Given the description of an element on the screen output the (x, y) to click on. 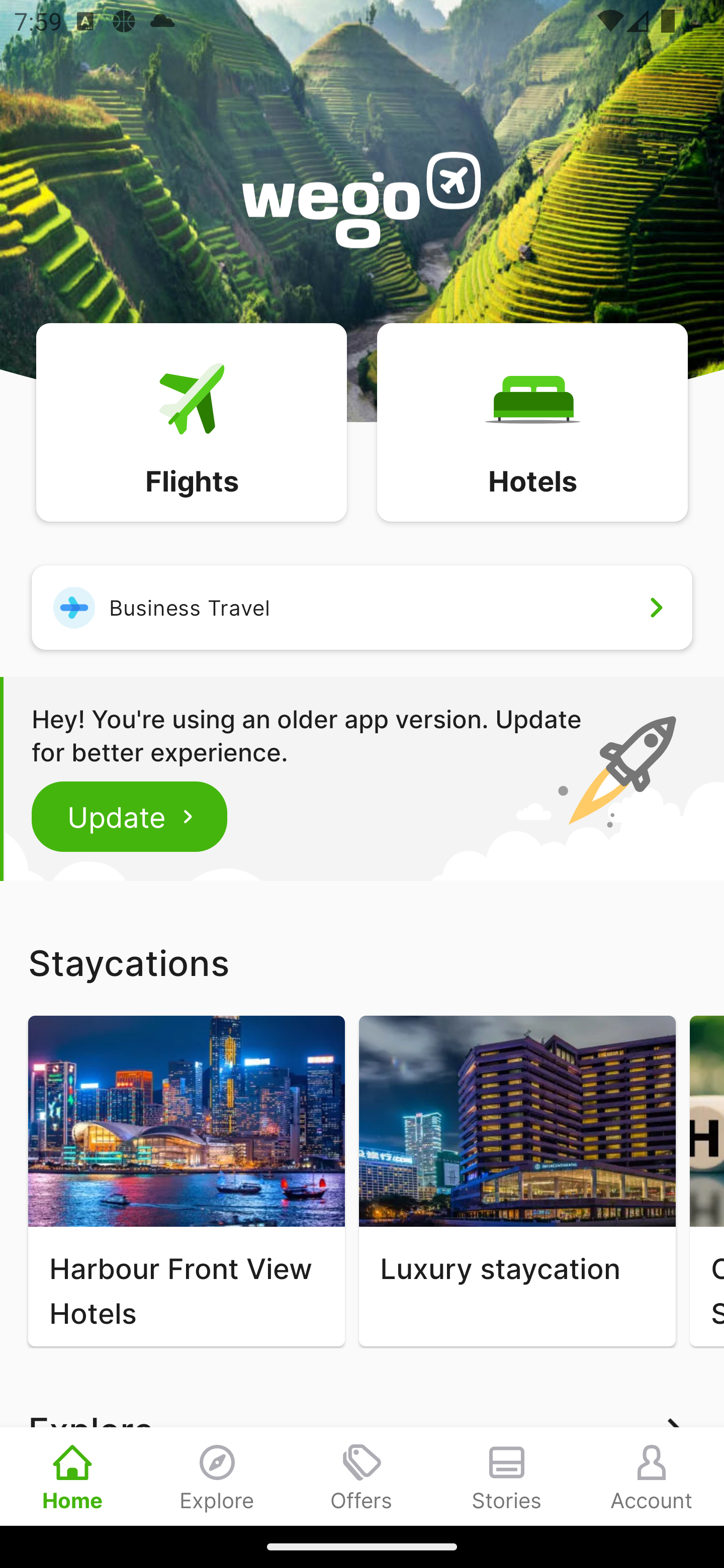
Flights (191, 420)
Hotels (532, 420)
Business Travel (361, 607)
Update (129, 815)
Staycations (362, 962)
Harbour Front View Hotels (186, 1181)
Luxury staycation (517, 1181)
Explore (216, 1475)
Offers (361, 1475)
Stories (506, 1475)
Account (651, 1475)
